Given the description of an element on the screen output the (x, y) to click on. 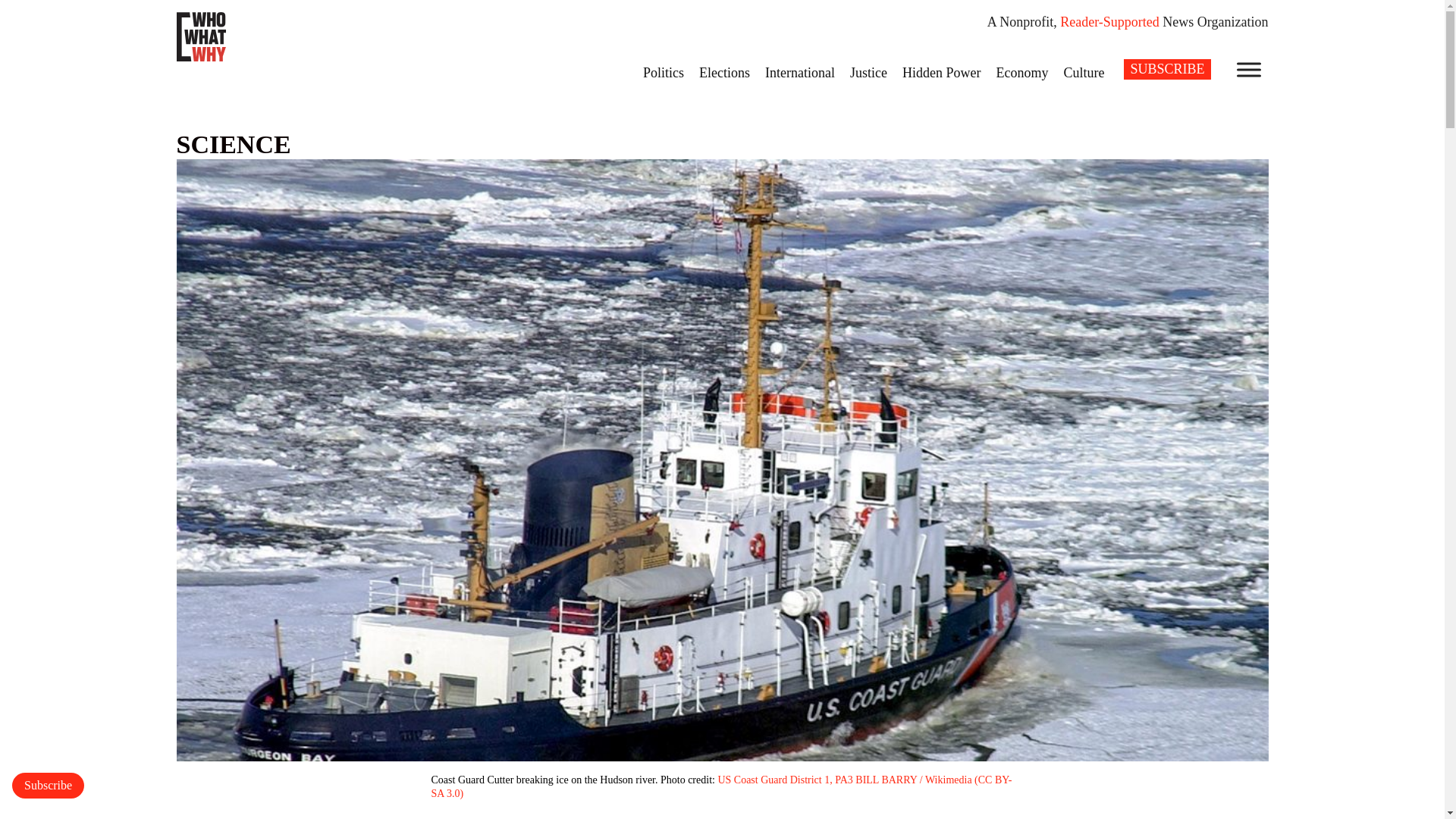
SUBSCRIBE (1166, 68)
Hidden Power (941, 72)
Justice (869, 72)
International (800, 72)
Search (21, 7)
Culture (1083, 72)
Reader-Supported (1108, 21)
Politics (662, 72)
Elections (724, 72)
Subscribe (47, 785)
Donate (47, 785)
Economy (1021, 72)
